Given the description of an element on the screen output the (x, y) to click on. 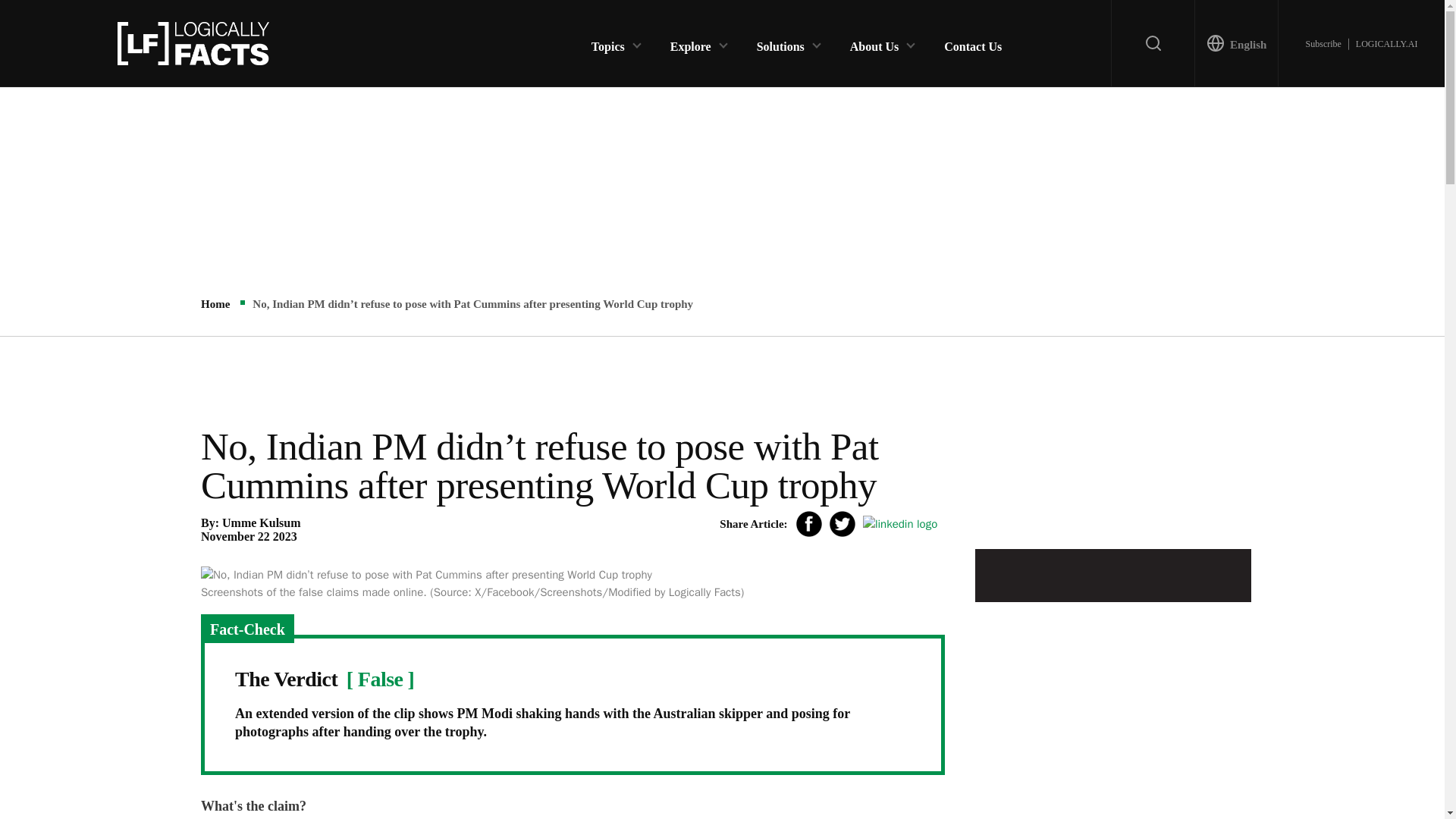
Contact Us (972, 43)
Home (215, 304)
Topics (607, 43)
About Us (874, 43)
Solutions (781, 43)
LOGICALLY.AI (1386, 43)
Explore (690, 43)
Subscribe (1323, 43)
